Given the description of an element on the screen output the (x, y) to click on. 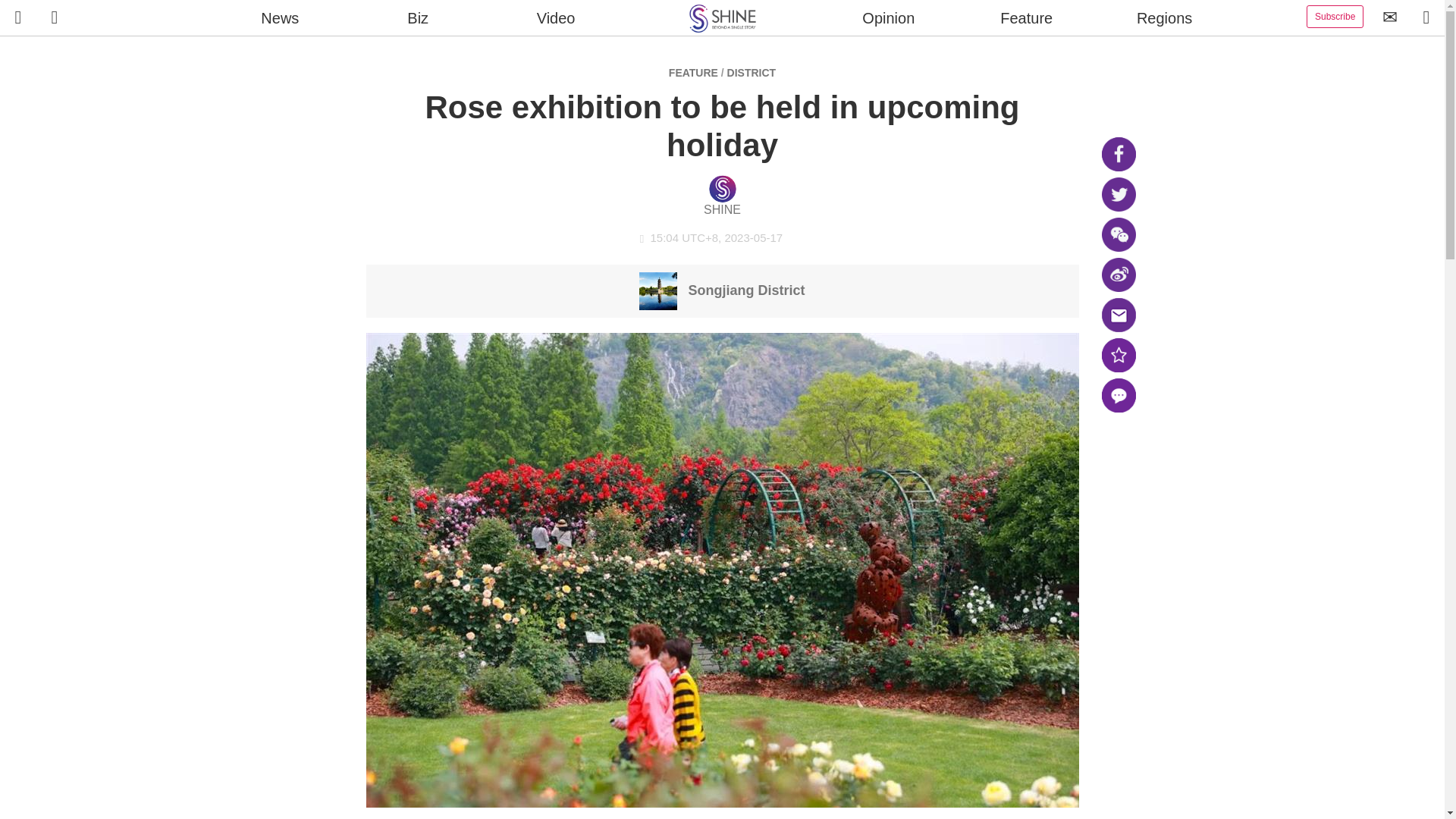
Add to favorites (1117, 355)
Share via email (1117, 315)
FEATURE (692, 72)
DISTRICT (751, 72)
Share your comments (1117, 395)
Songjiang District (722, 290)
